Given the description of an element on the screen output the (x, y) to click on. 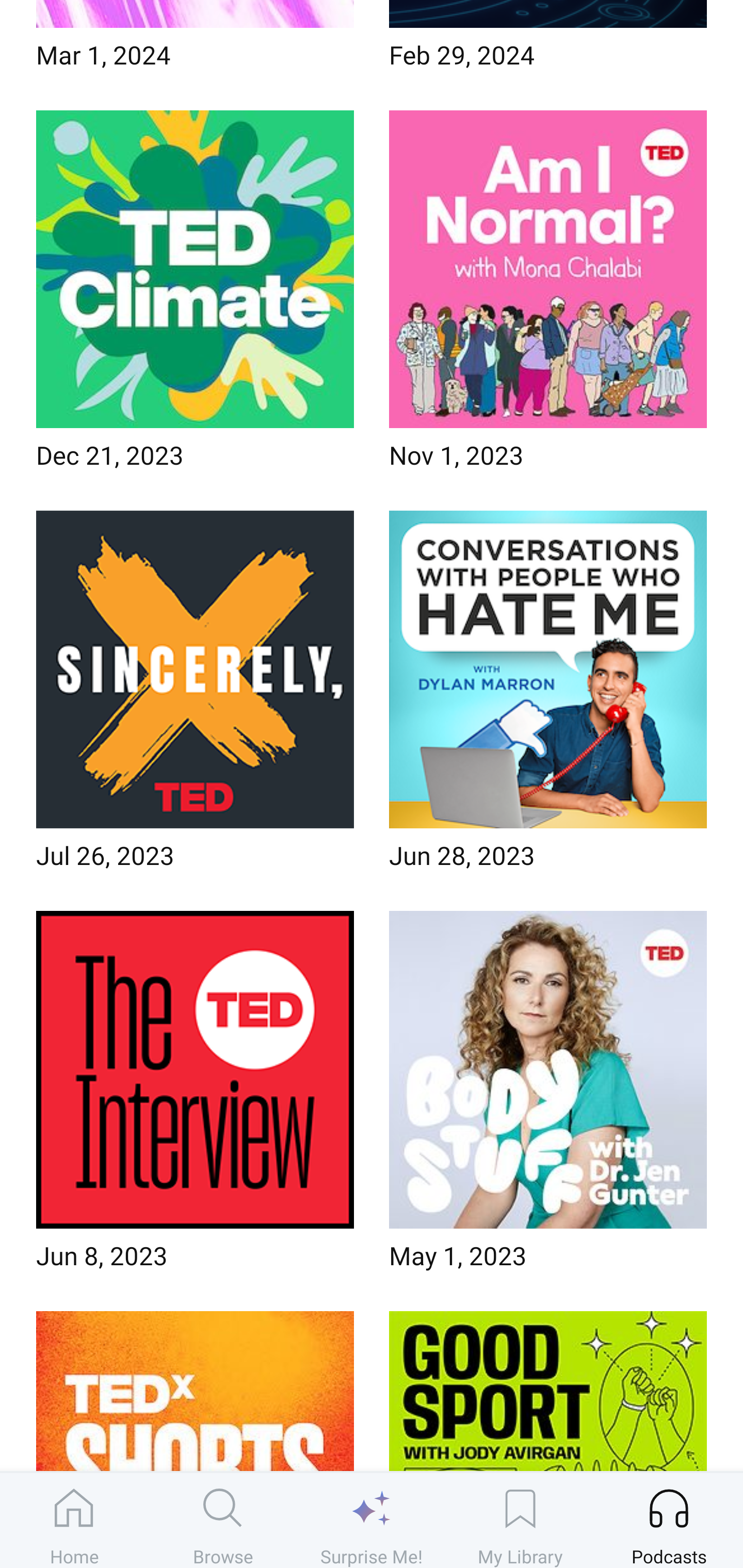
Dec 21, 2023 (194, 295)
Nov 1, 2023 (547, 295)
Jul 26, 2023 (194, 696)
Jun 28, 2023 (547, 696)
Jun 8, 2023 (194, 1096)
May 1, 2023 (547, 1096)
Home (74, 1520)
Browse (222, 1520)
Surprise Me! (371, 1520)
My Library (519, 1520)
Podcasts (668, 1520)
